Given the description of an element on the screen output the (x, y) to click on. 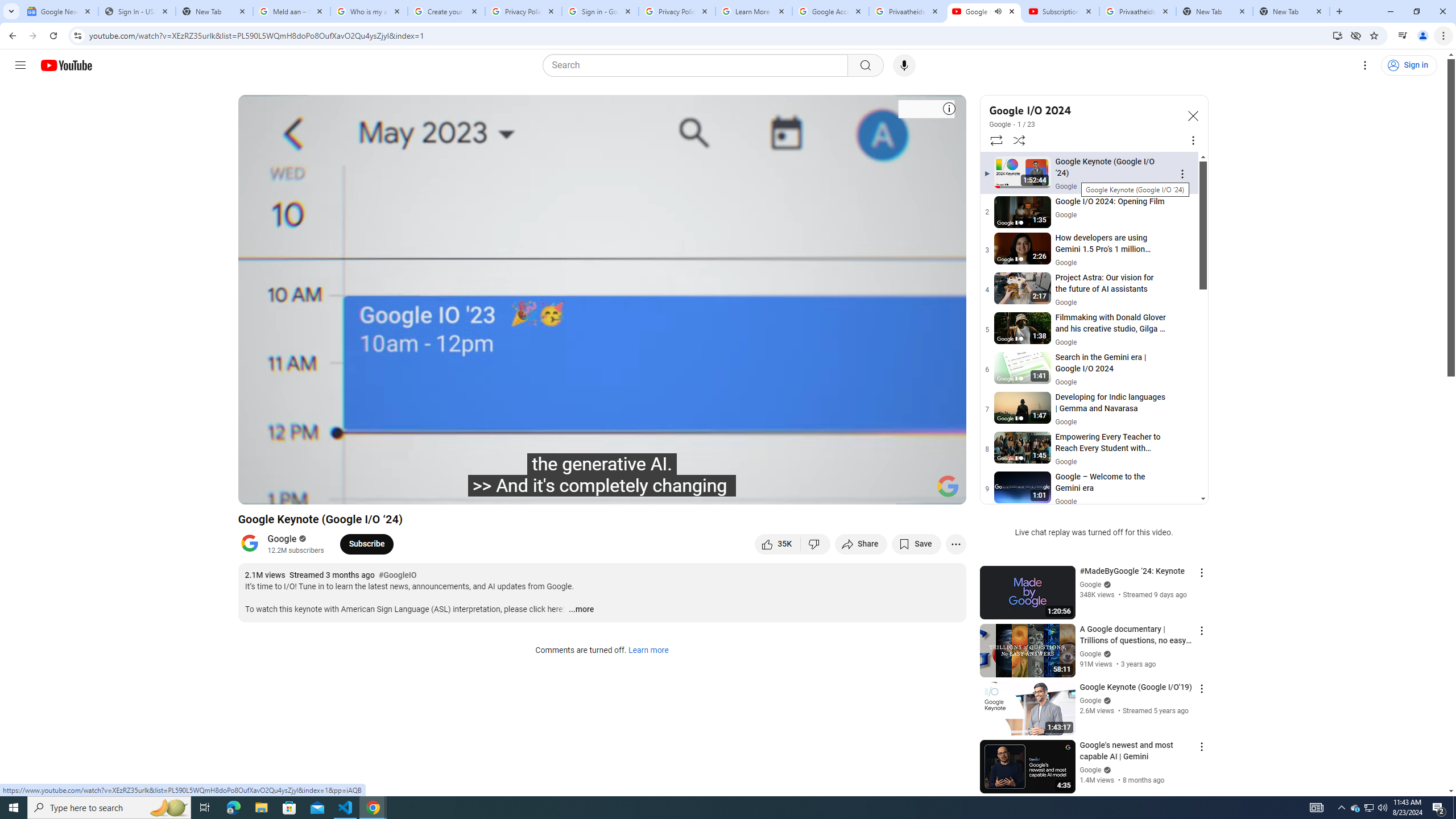
Seek slider (601, 476)
Next (SHIFT+n) (310, 490)
Dislike this video (815, 543)
Subscriptions - YouTube (1061, 11)
Google Account (830, 11)
Who is my administrator? - Google Account Help (368, 11)
Learn more (647, 650)
New Tab (213, 11)
